Given the description of an element on the screen output the (x, y) to click on. 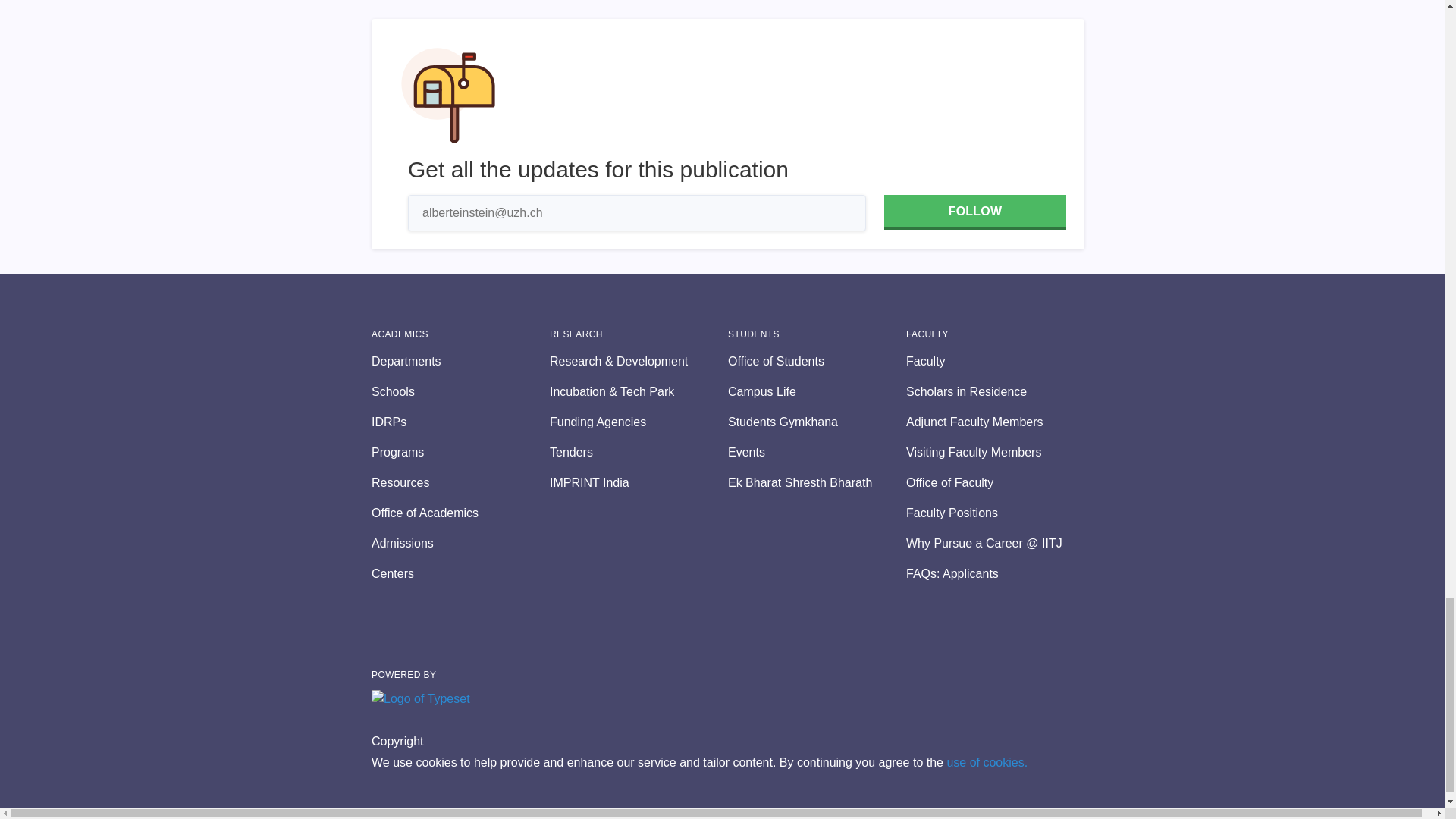
Campus Life (816, 392)
Logo of Typeset (420, 699)
Centers (460, 574)
Schools (460, 392)
Tenders (639, 452)
Office of Academics (460, 513)
Departments (460, 361)
FOLLOW (974, 212)
Subscribe form hero illustration (448, 94)
Resources (460, 483)
Admissions (460, 543)
IMPRINT India (639, 483)
Funding Agencies (639, 422)
Office of Students (816, 361)
Programs (460, 452)
